Given the description of an element on the screen output the (x, y) to click on. 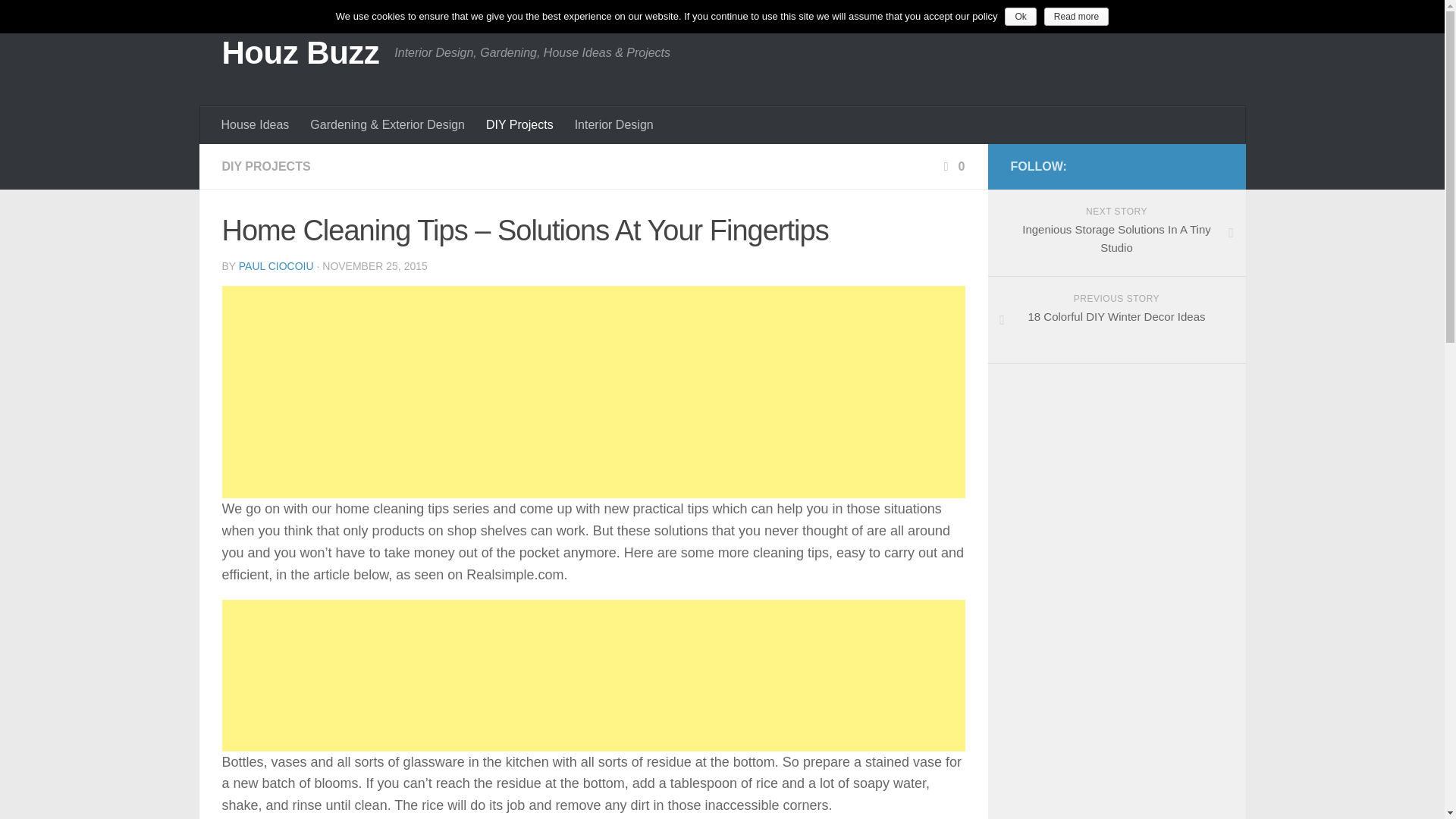
Interior Design (613, 125)
Advertisement (1115, 232)
0 (592, 675)
Posts by Paul Ciocoiu (952, 165)
Houz Buzz (1115, 319)
DIY Projects (276, 265)
House Ideas (299, 53)
DIY PROJECTS (520, 125)
PAUL CIOCOIU (255, 125)
